Given the description of an element on the screen output the (x, y) to click on. 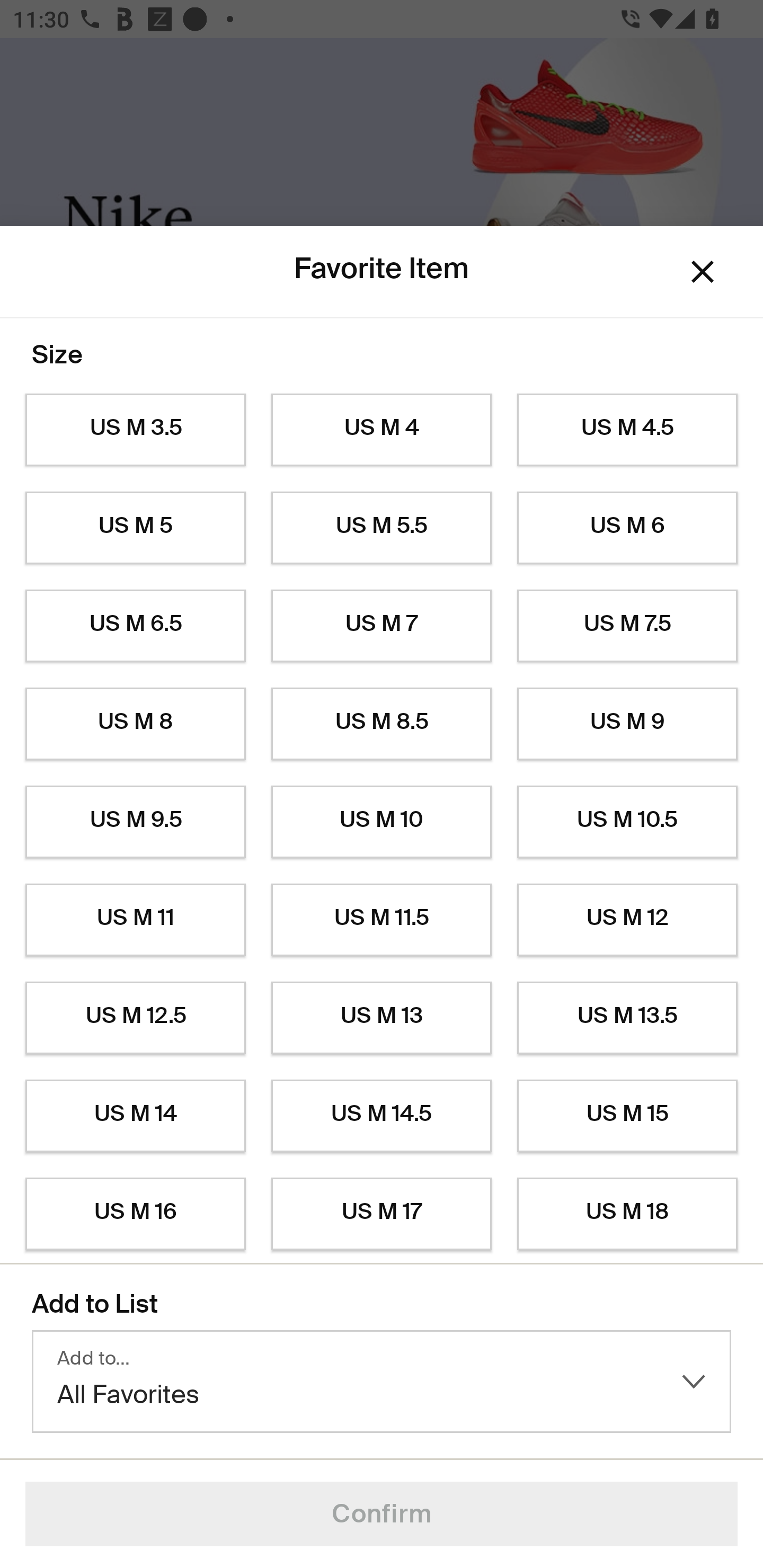
Dismiss (702, 271)
US M 3.5 (135, 430)
US M 4 (381, 430)
US M 4.5 (627, 430)
US M 5 (135, 527)
US M 5.5 (381, 527)
US M 6 (627, 527)
US M 6.5 (135, 626)
US M 7 (381, 626)
US M 7.5 (627, 626)
US M 8 (135, 724)
US M 8.5 (381, 724)
US M 9 (627, 724)
US M 9.5 (135, 822)
US M 10 (381, 822)
US M 10.5 (627, 822)
US M 11 (135, 919)
US M 11.5 (381, 919)
US M 12 (627, 919)
US M 12.5 (135, 1018)
US M 13 (381, 1018)
US M 13.5 (627, 1018)
US M 14 (135, 1116)
US M 14.5 (381, 1116)
US M 15 (627, 1116)
US M 16 (135, 1214)
US M 17 (381, 1214)
US M 18 (627, 1214)
Add to… All Favorites (381, 1381)
Confirm (381, 1513)
